Given the description of an element on the screen output the (x, y) to click on. 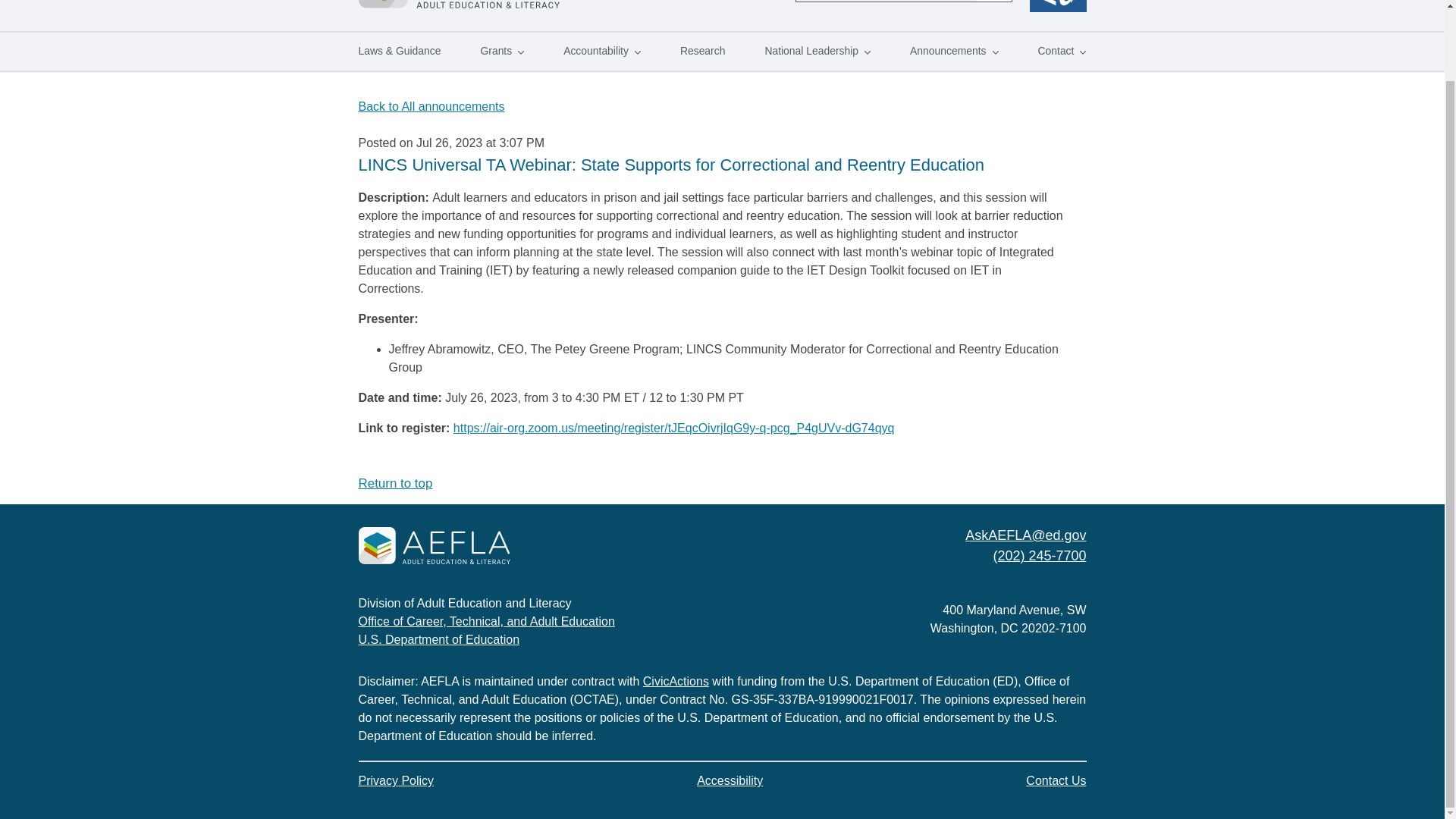
Research (703, 51)
Back to All announcements (430, 106)
Contact (1062, 51)
Contact Us (1056, 781)
Home (433, 548)
Return to top (395, 482)
National Leadership (817, 51)
Office of Career, Technical, and Adult Education (486, 621)
Privacy Policy (395, 781)
U.S. Department of Education (438, 639)
Department of Education Privacy Policy (395, 781)
Announcements (954, 51)
CivicActions (676, 680)
Grants (501, 51)
Accountability (601, 51)
